Given the description of an element on the screen output the (x, y) to click on. 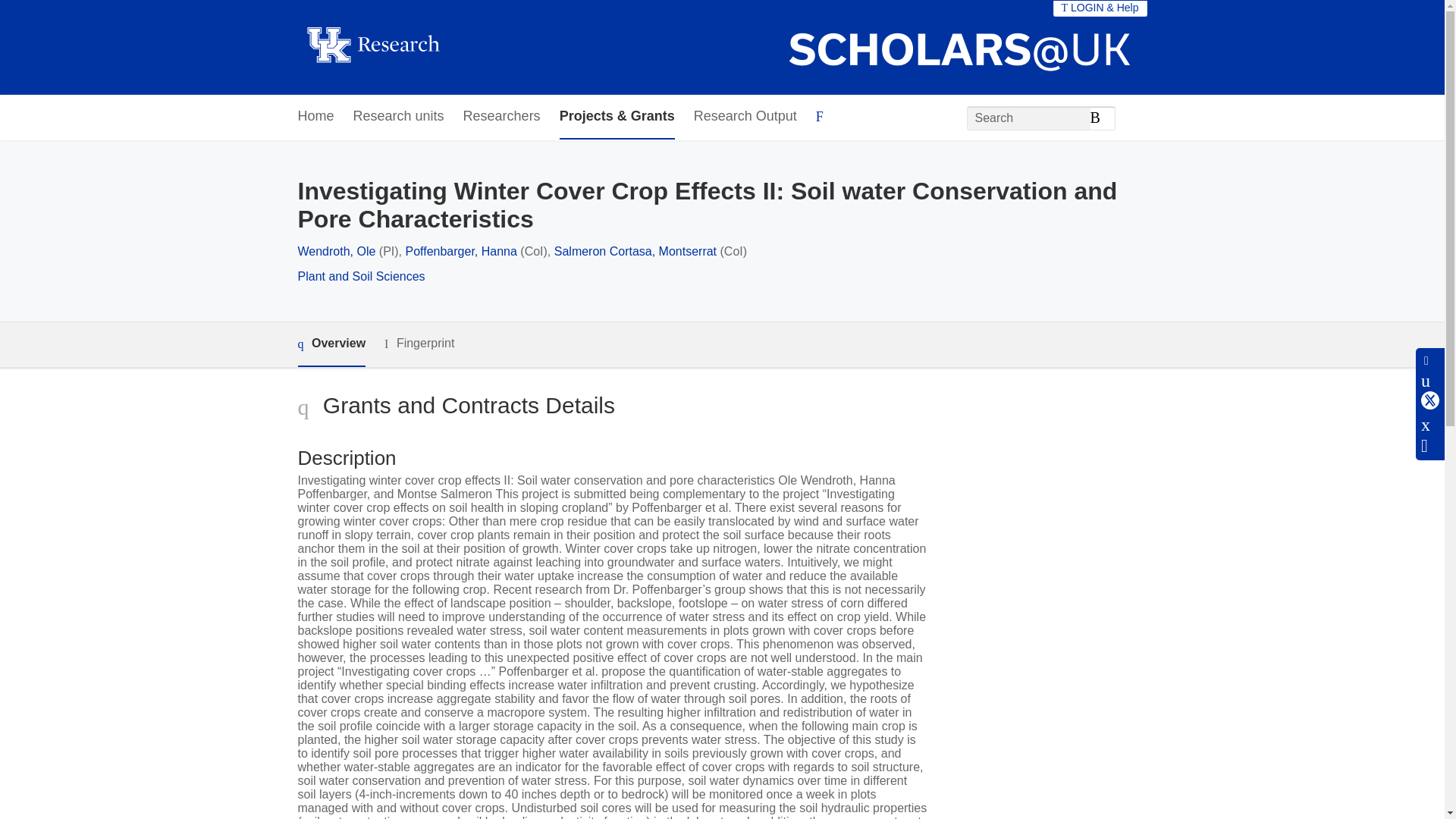
University of Kentucky Home (372, 47)
Researchers (501, 117)
Poffenbarger, Hanna (460, 250)
Fingerprint (419, 343)
Wendroth, Ole (336, 250)
Research Output (745, 117)
Salmeron Cortasa, Montserrat (635, 250)
Overview (331, 344)
Research units (398, 117)
